Given the description of an element on the screen output the (x, y) to click on. 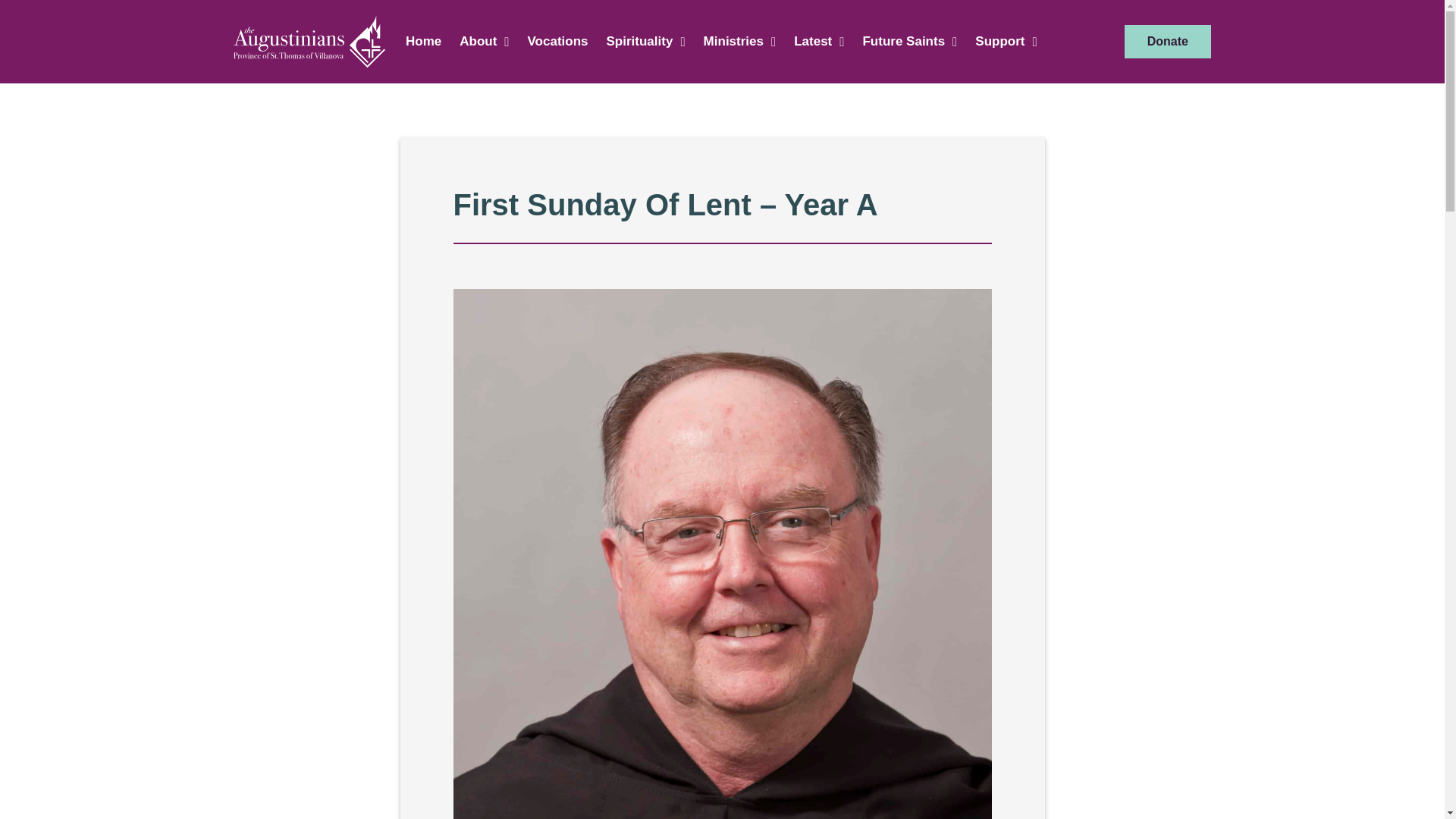
Support (1005, 41)
Spirituality (645, 41)
Vocations (557, 41)
Ministries (740, 41)
About (483, 41)
Donate (1167, 41)
Latest (818, 41)
Future Saints (909, 41)
Home (422, 41)
